Given the description of an element on the screen output the (x, y) to click on. 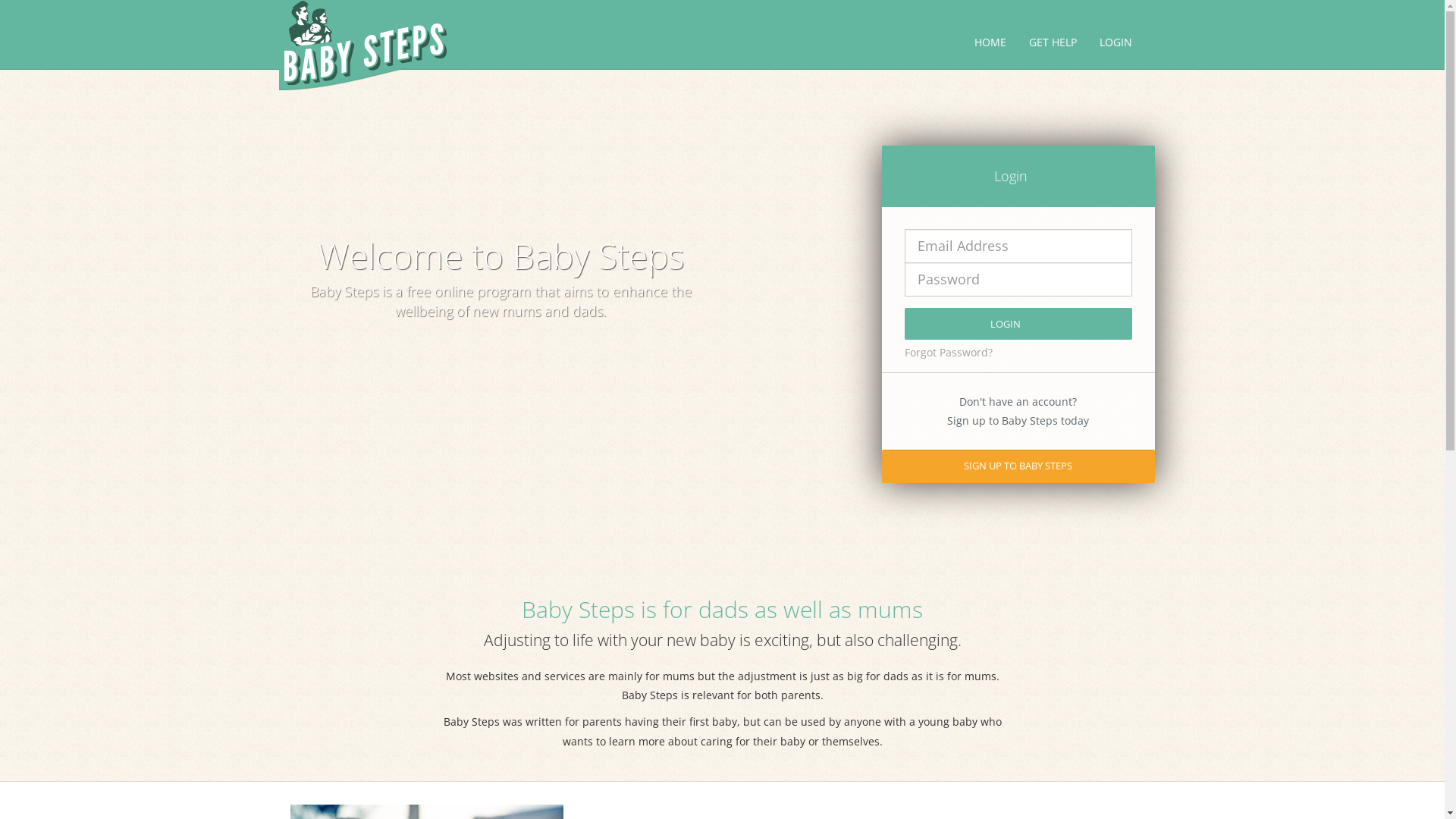
HOME Element type: text (990, 42)
GET HELP Element type: text (1052, 42)
Forgot Password? Element type: text (947, 352)
Baby Steps Element type: text (364, 45)
SIGN UP TO BABY STEPS Element type: text (1017, 466)
LOGIN Element type: text (1017, 323)
LOGIN Element type: text (1114, 42)
